Given the description of an element on the screen output the (x, y) to click on. 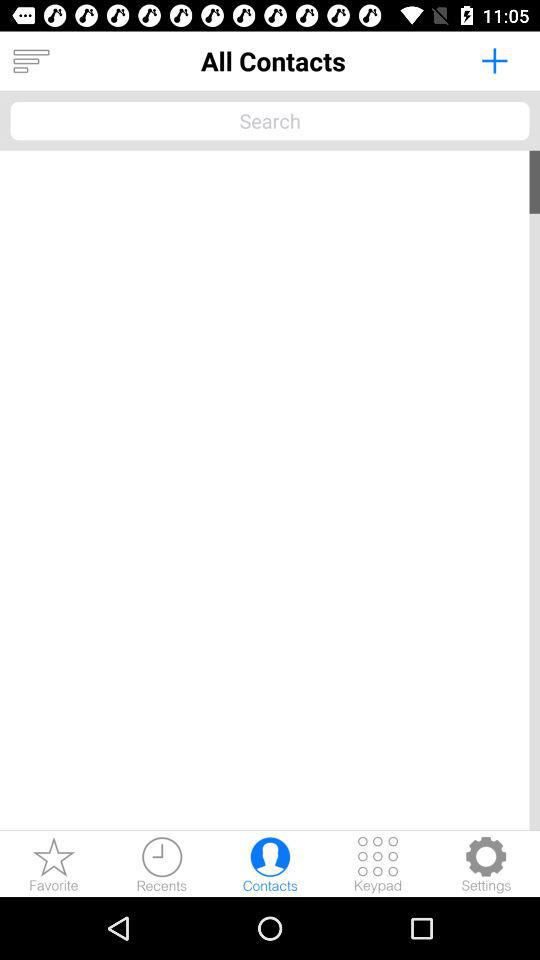
use keypad (377, 864)
